Given the description of an element on the screen output the (x, y) to click on. 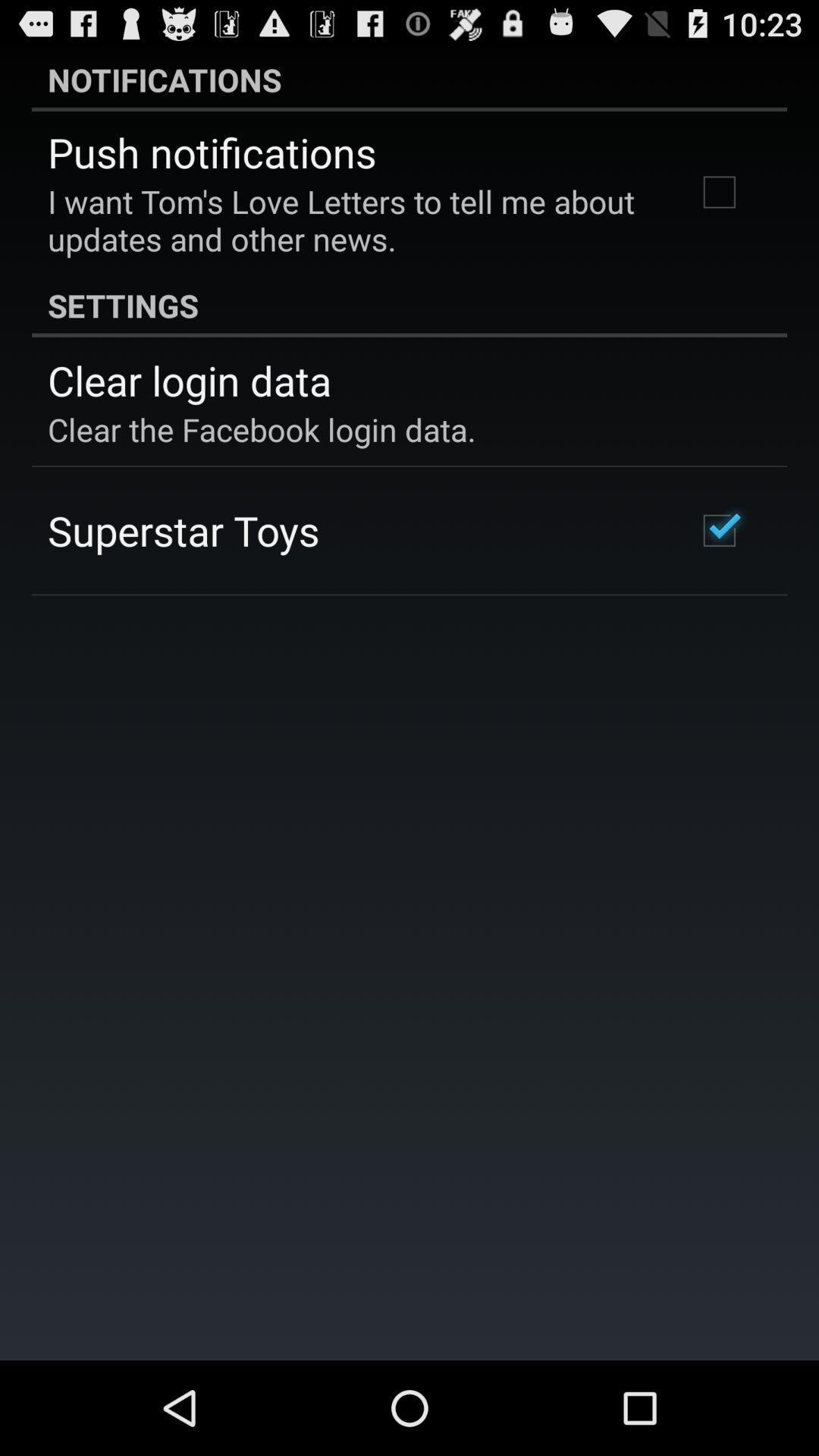
turn off item above the superstar toys (261, 429)
